Given the description of an element on the screen output the (x, y) to click on. 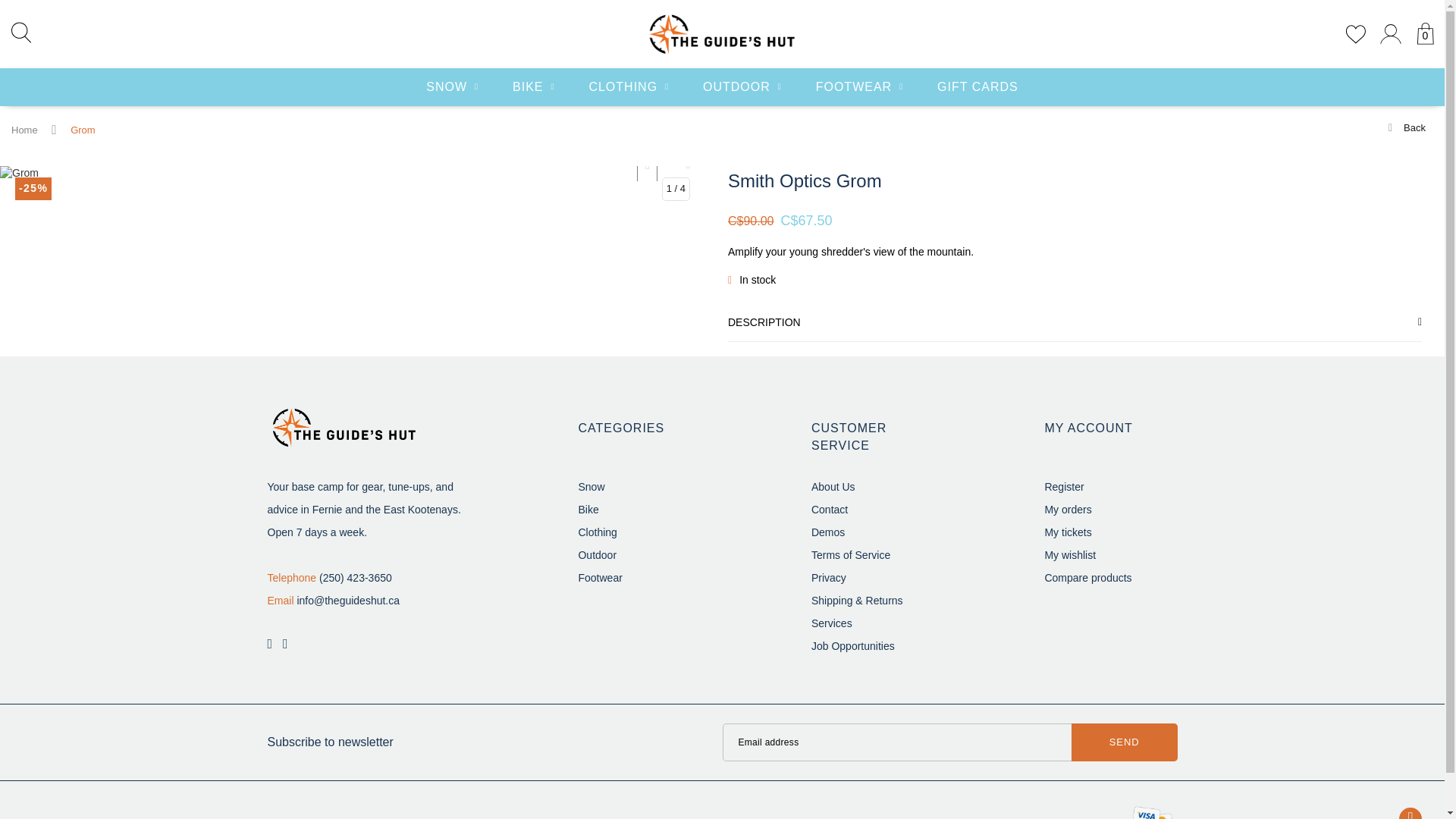
Register (1063, 486)
Subscribe (1124, 742)
My tickets (1066, 532)
My orders (1066, 509)
My wishlist (1069, 554)
Gift Cards (977, 86)
Home (24, 130)
